Given the description of an element on the screen output the (x, y) to click on. 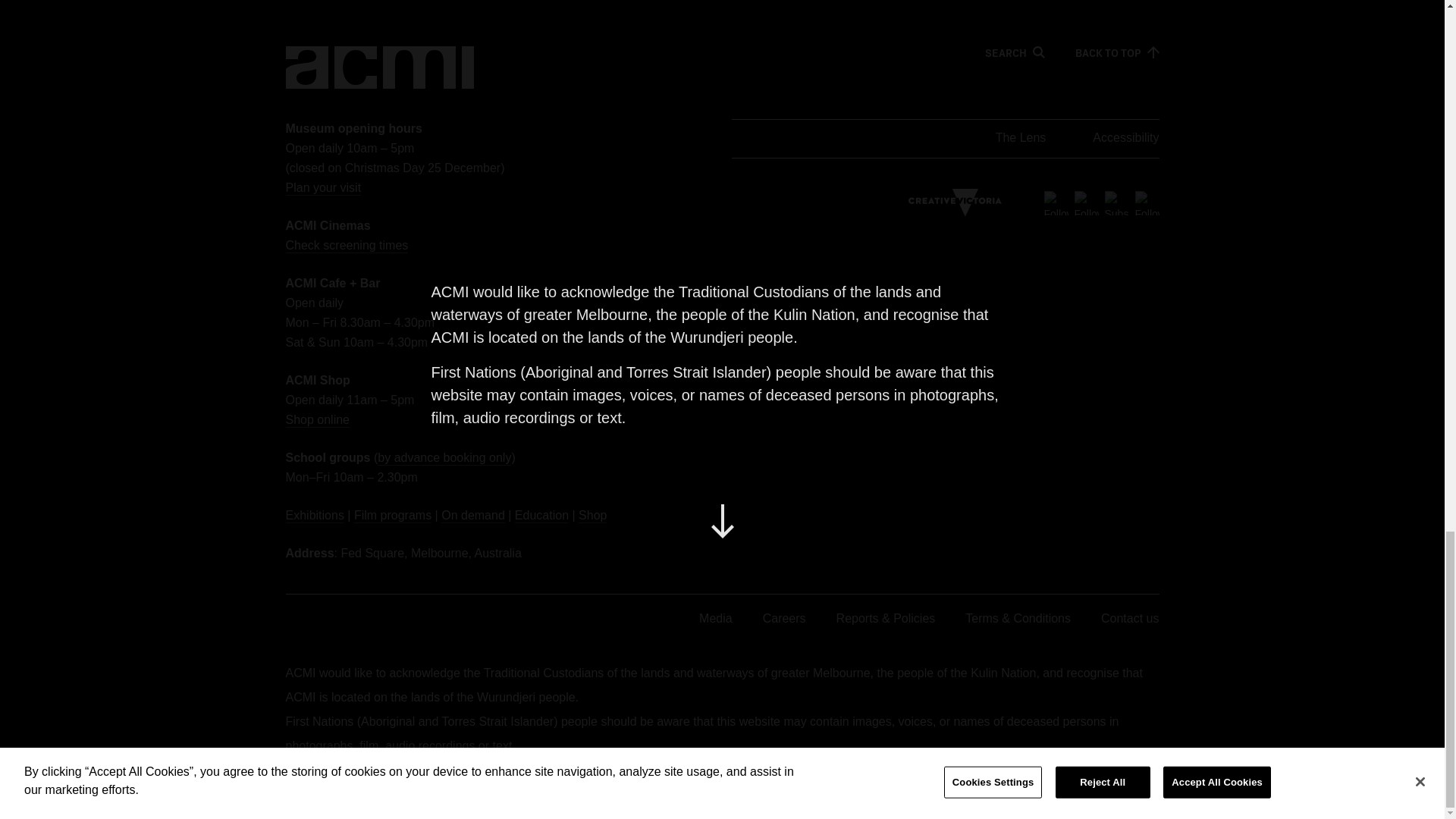
Follow ACMI on Instagram (1146, 202)
View Creative Victoria website (954, 203)
Subscribe to ACMI's YouTube channel (1115, 202)
Follow ACMI on Facebook (1085, 202)
Follow ACMI on X (1055, 202)
